Given the description of an element on the screen output the (x, y) to click on. 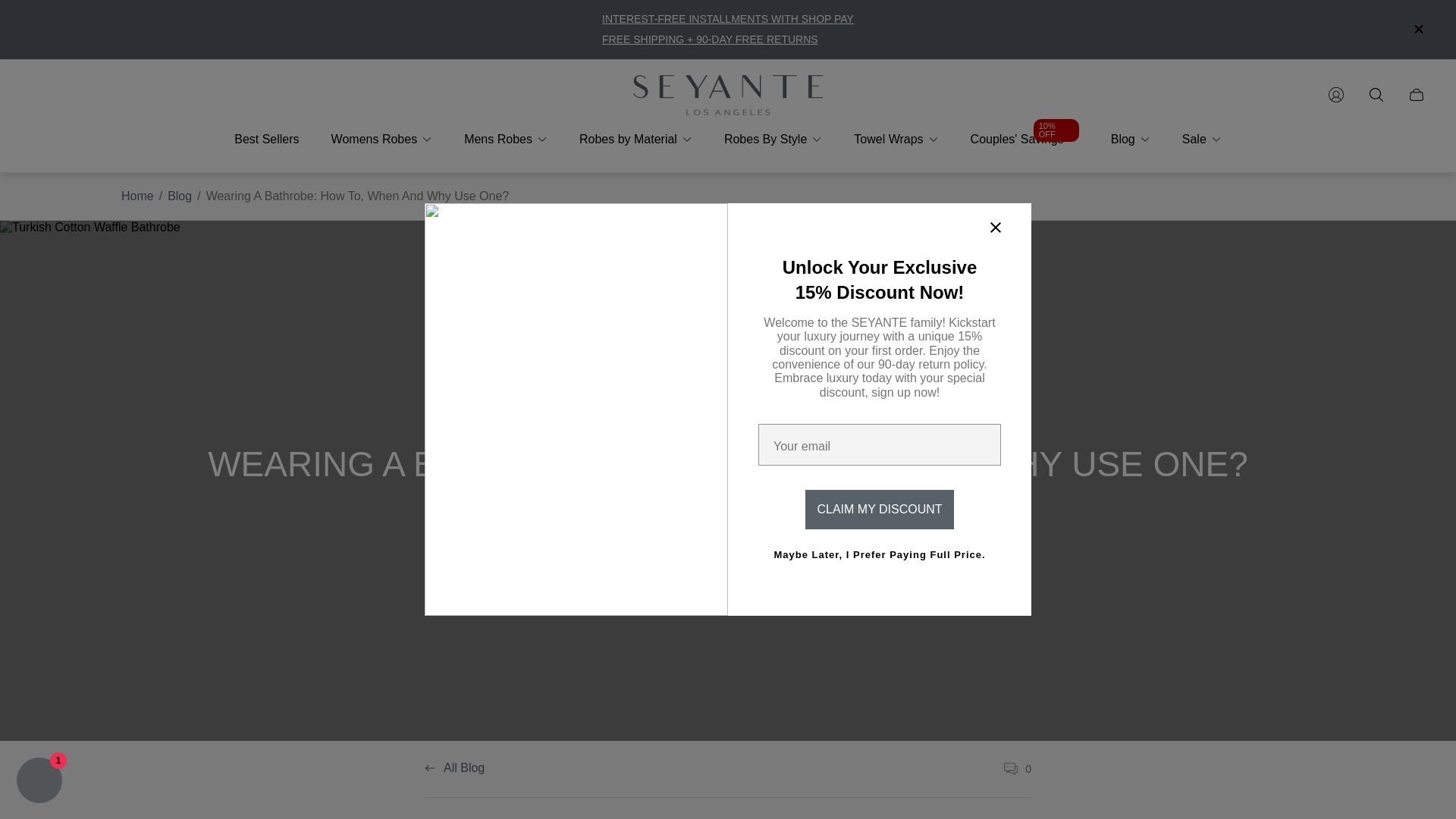
Shopify online store chat (38, 781)
Cart drawer. (1415, 94)
login (1335, 94)
INTEREST-FREE INSTALLMENTS WITH SHOP PAY (727, 19)
INTEREST-FREE INSTALLMENTS WITH SHOP PAY (727, 19)
Seyante Home Page (727, 95)
Mens Robes (505, 139)
Home (137, 196)
Best Sellers (266, 139)
Womens Robes (381, 139)
